Given the description of an element on the screen output the (x, y) to click on. 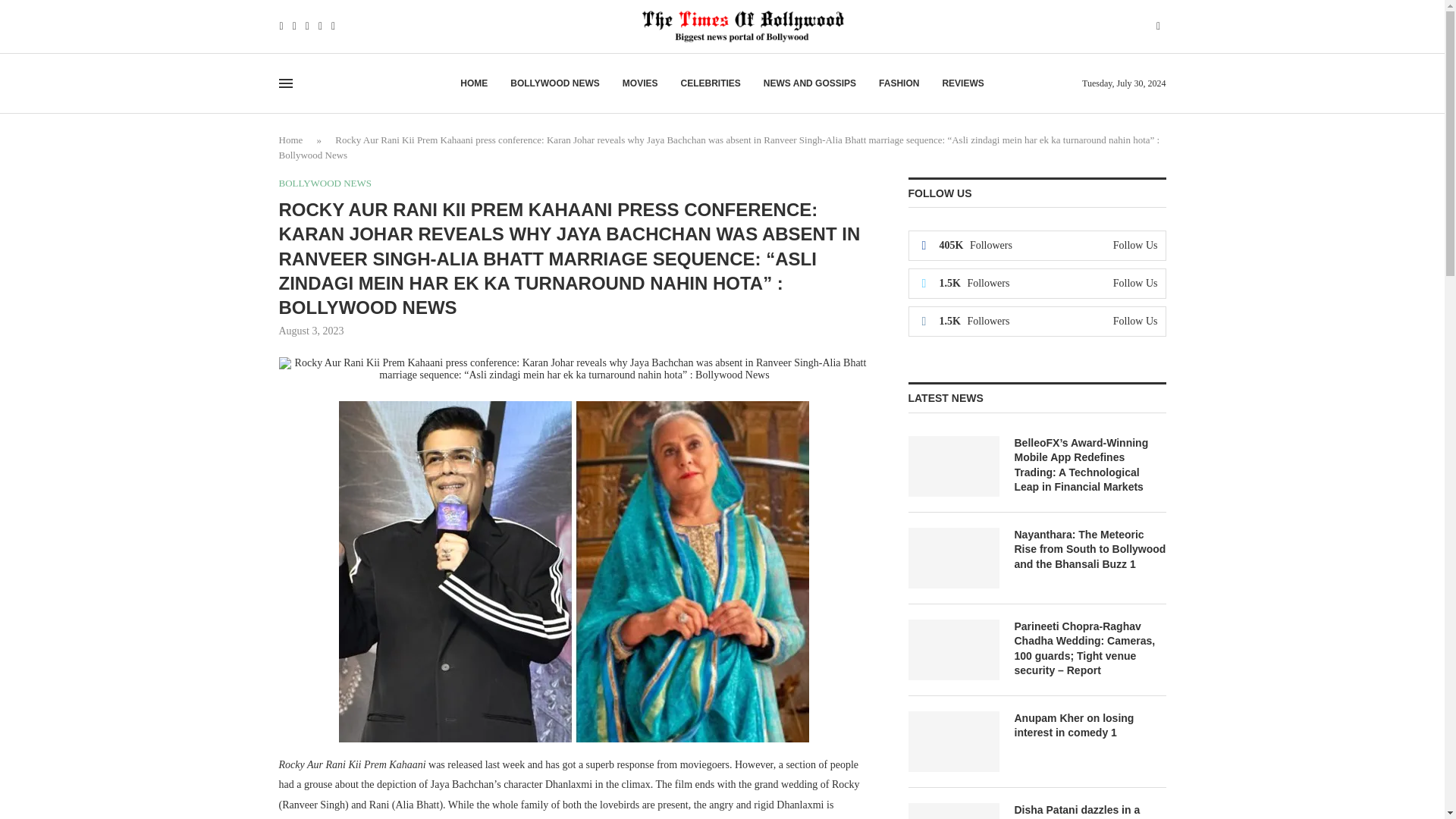
CELEBRITIES (709, 83)
FASHION (898, 83)
NEWS AND GOSSIPS (809, 83)
BOLLYWOOD NEWS (555, 83)
REVIEWS (963, 83)
